Given the description of an element on the screen output the (x, y) to click on. 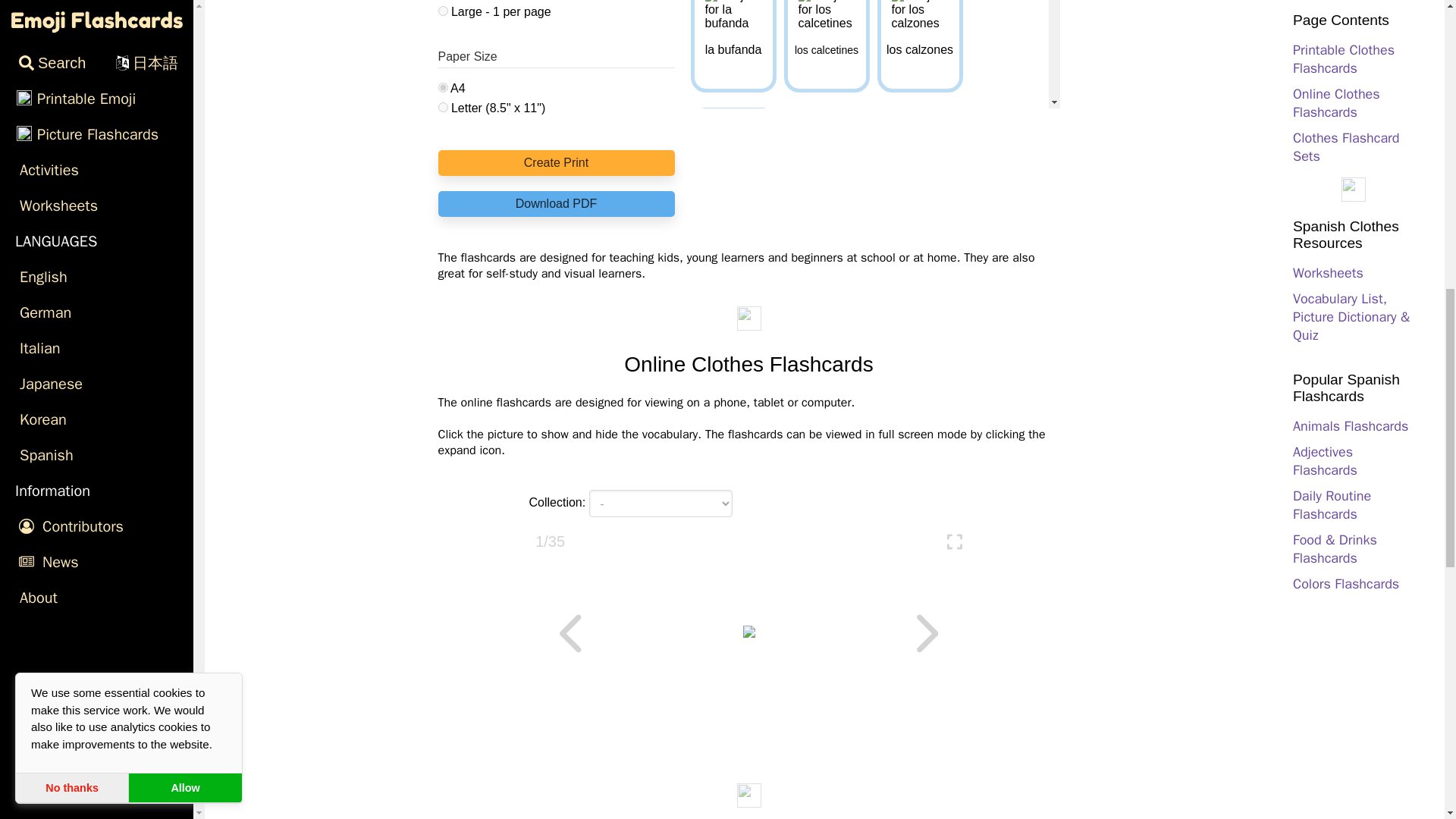
letter (443, 107)
Download PDF (556, 203)
Show Full Screen (954, 543)
large (443, 10)
Create Print (556, 162)
a4 (443, 87)
